Given the description of an element on the screen output the (x, y) to click on. 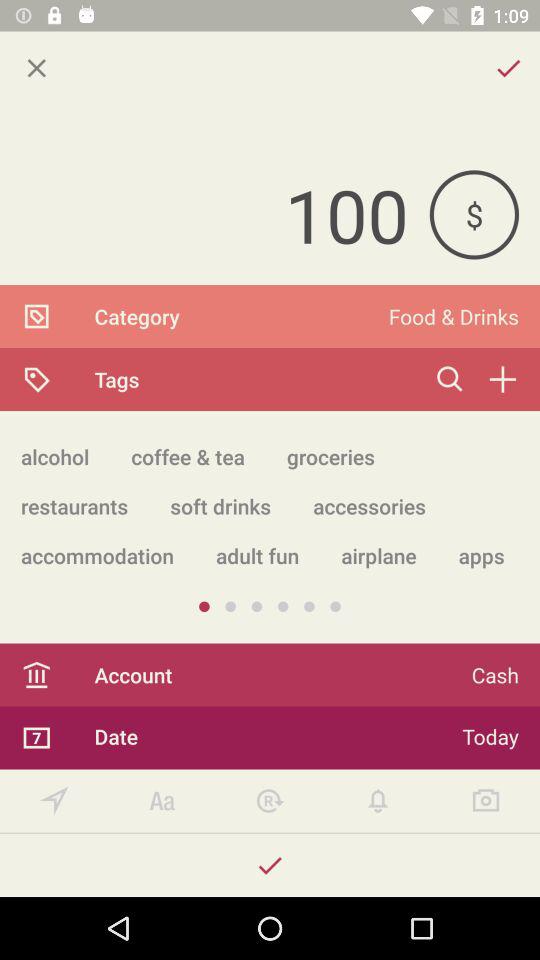
confirm (270, 865)
